Given the description of an element on the screen output the (x, y) to click on. 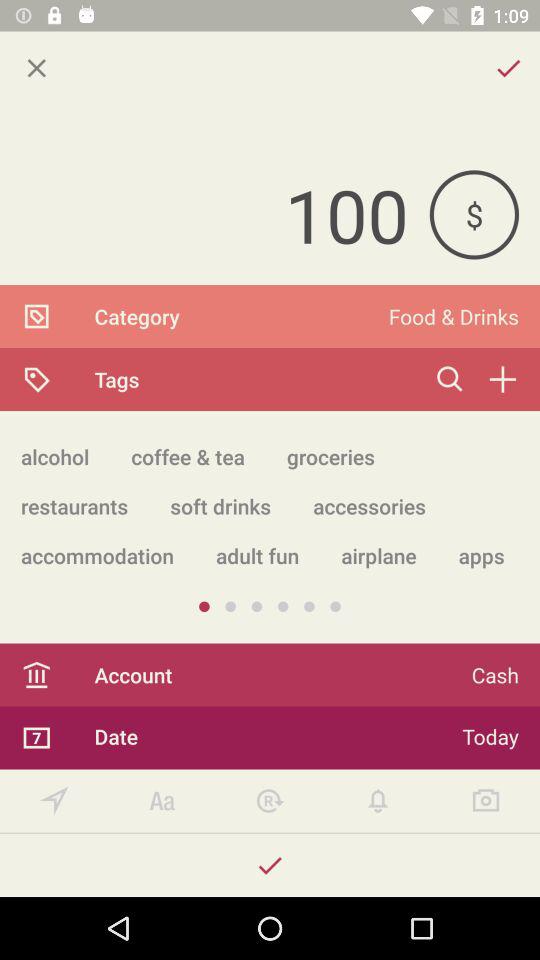
confirm (270, 865)
